Given the description of an element on the screen output the (x, y) to click on. 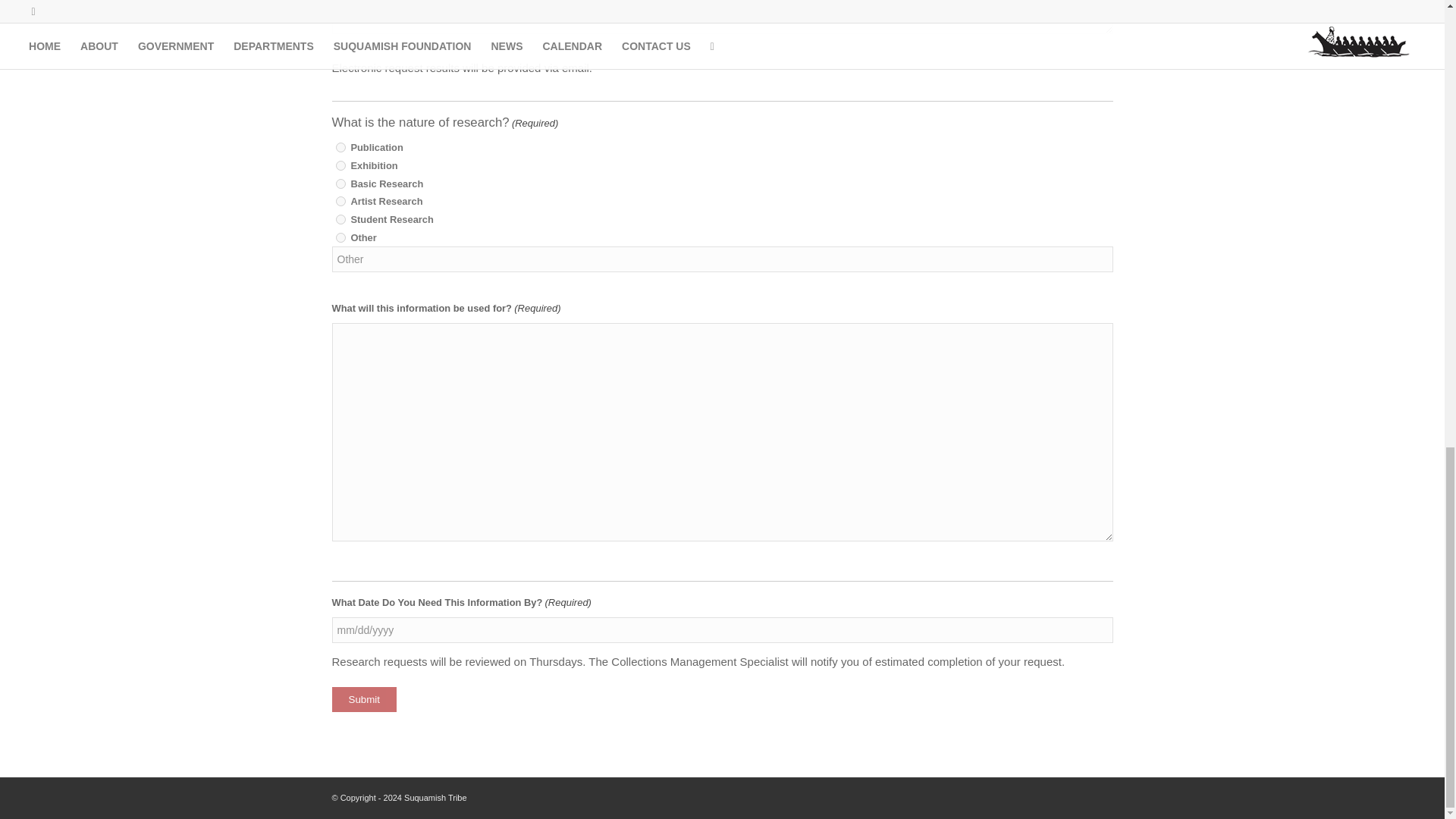
Exhibition (339, 165)
Artist Research (339, 201)
Basic Research (339, 184)
Publication (339, 147)
